Given the description of an element on the screen output the (x, y) to click on. 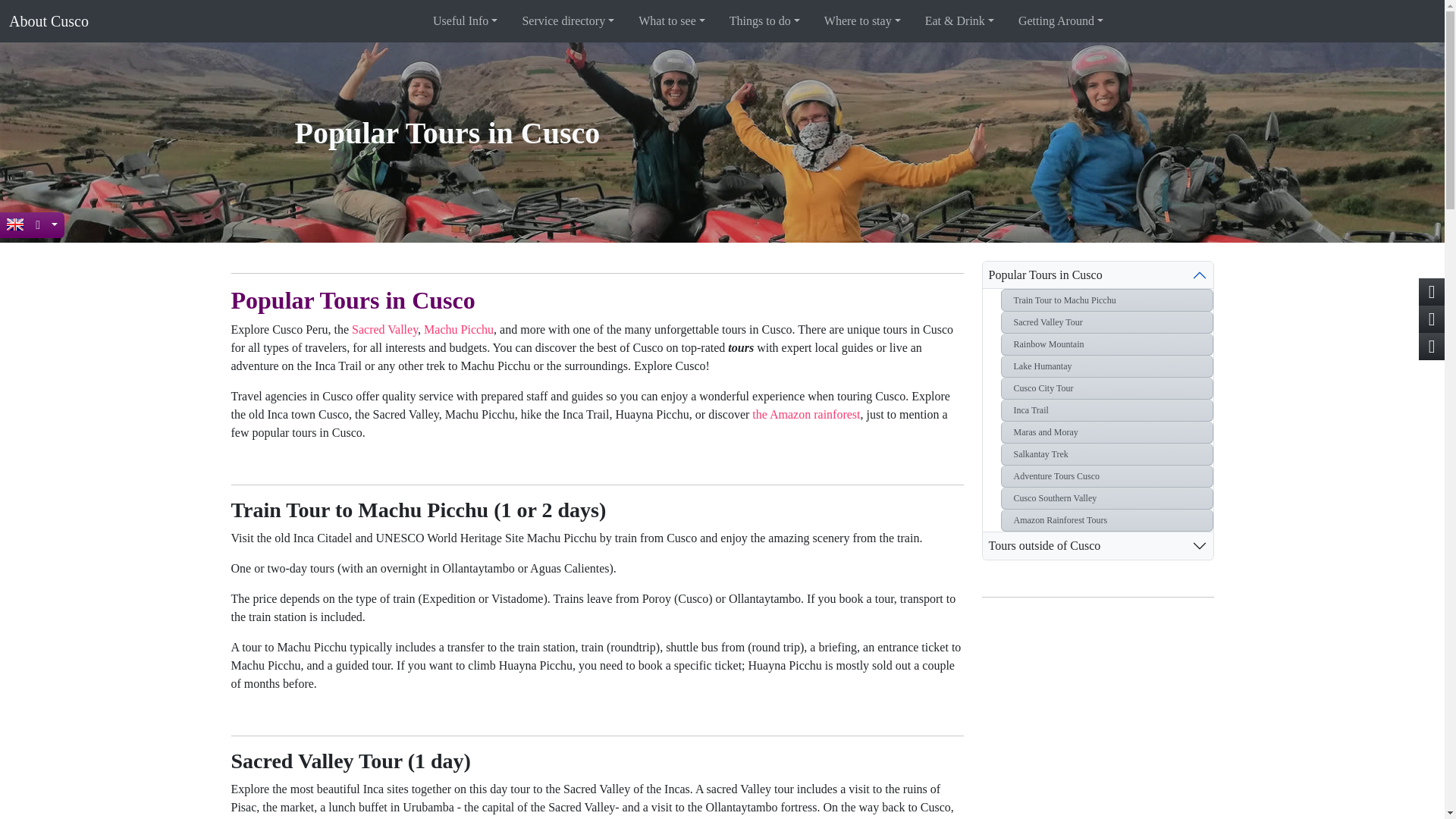
Service directory (567, 20)
Useful Info (464, 20)
What to see (671, 20)
GetYourGuide Widget (1096, 690)
About Cusco (48, 20)
